Given the description of an element on the screen output the (x, y) to click on. 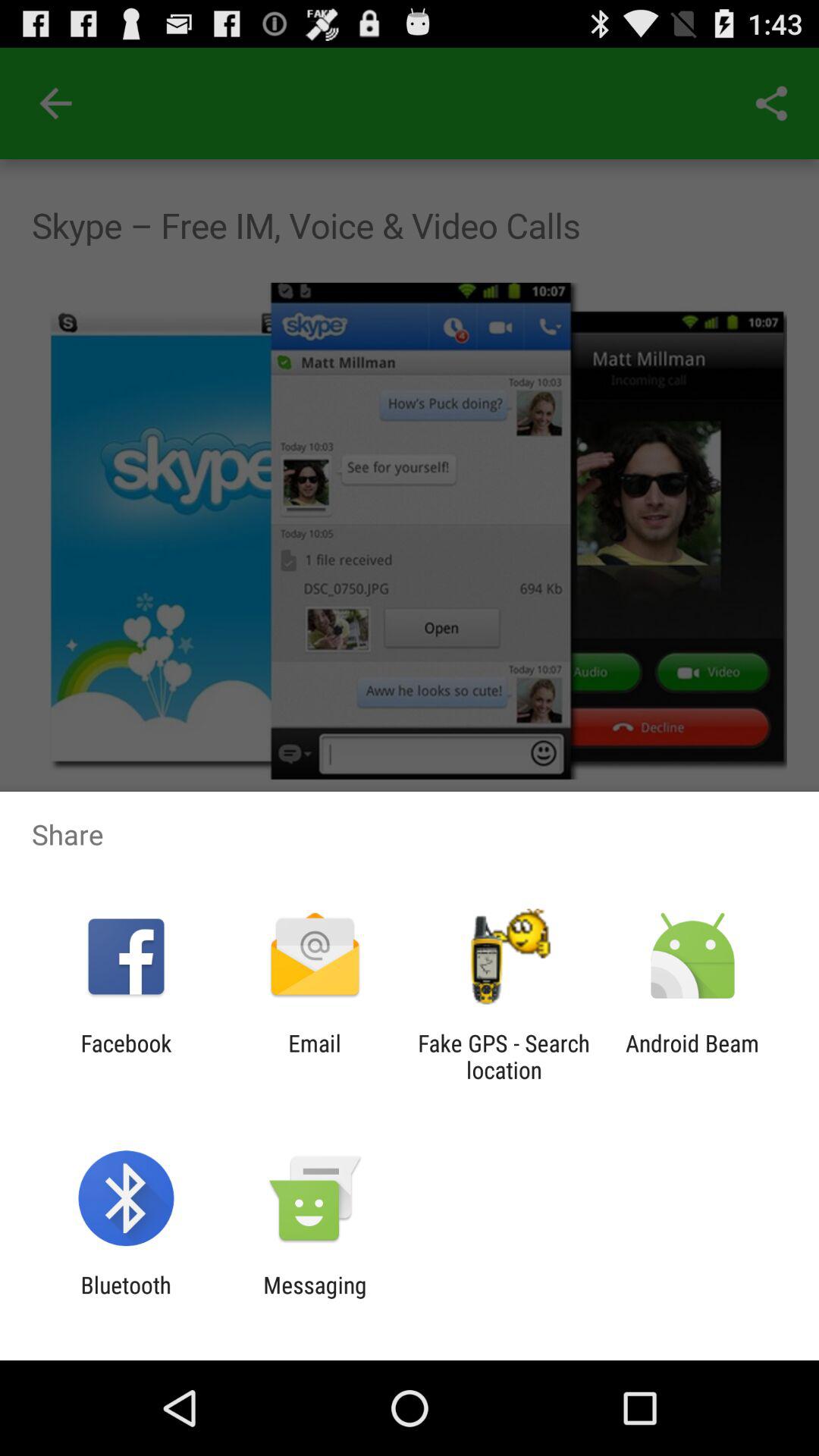
select item to the left of messaging app (125, 1298)
